Given the description of an element on the screen output the (x, y) to click on. 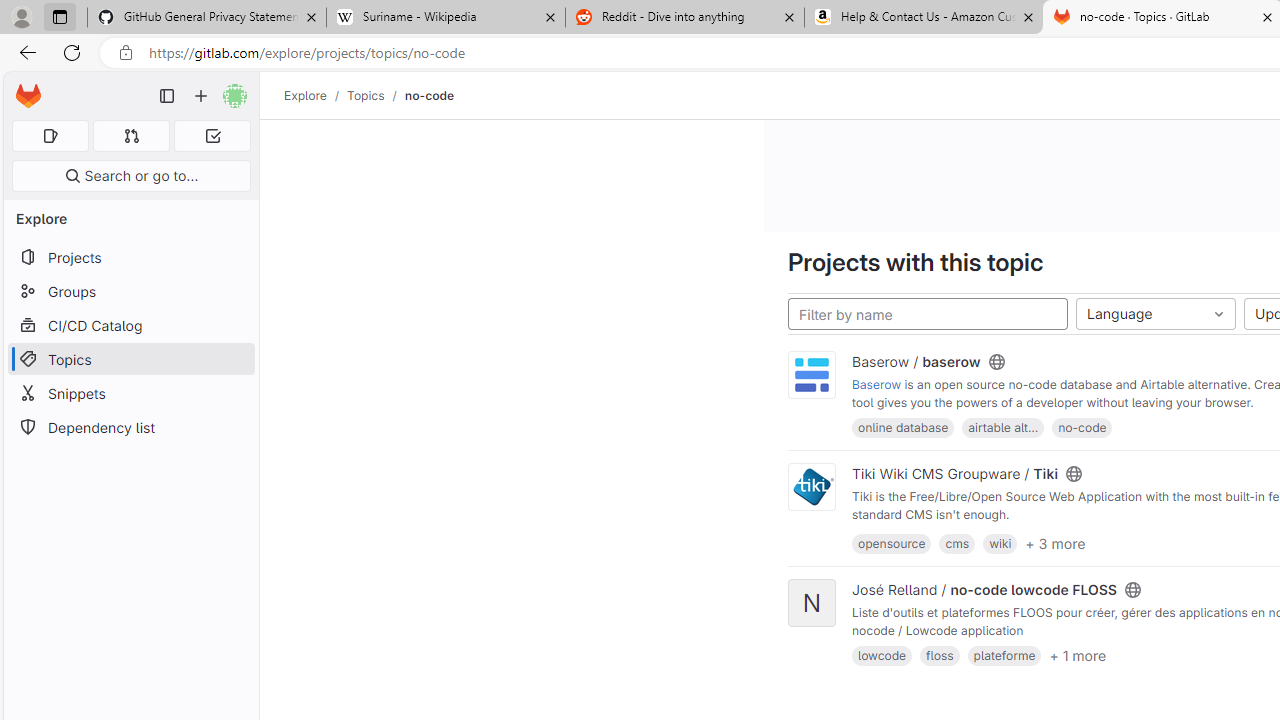
Class: s16 (1131, 590)
To-Do list 0 (212, 136)
+ 3 more (1055, 542)
Primary navigation sidebar (167, 96)
Groups (130, 291)
Explore/ (316, 95)
floss (939, 655)
Dependency list (130, 427)
Topics (130, 358)
Snippets (130, 393)
plateforme (1003, 655)
Projects (130, 257)
online database (902, 426)
